Given the description of an element on the screen output the (x, y) to click on. 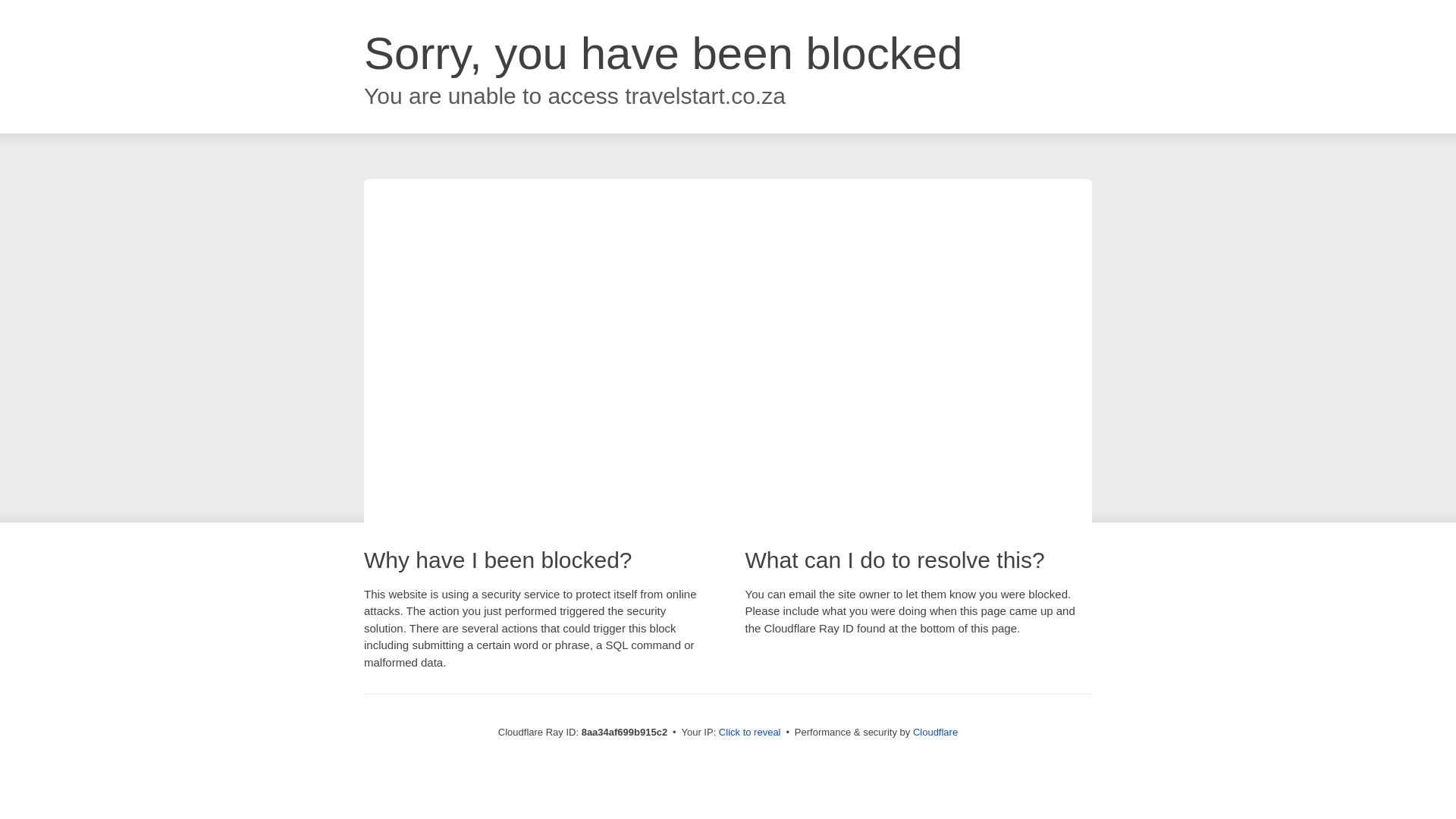
Click to reveal (749, 732)
Cloudflare (935, 731)
